Given the description of an element on the screen output the (x, y) to click on. 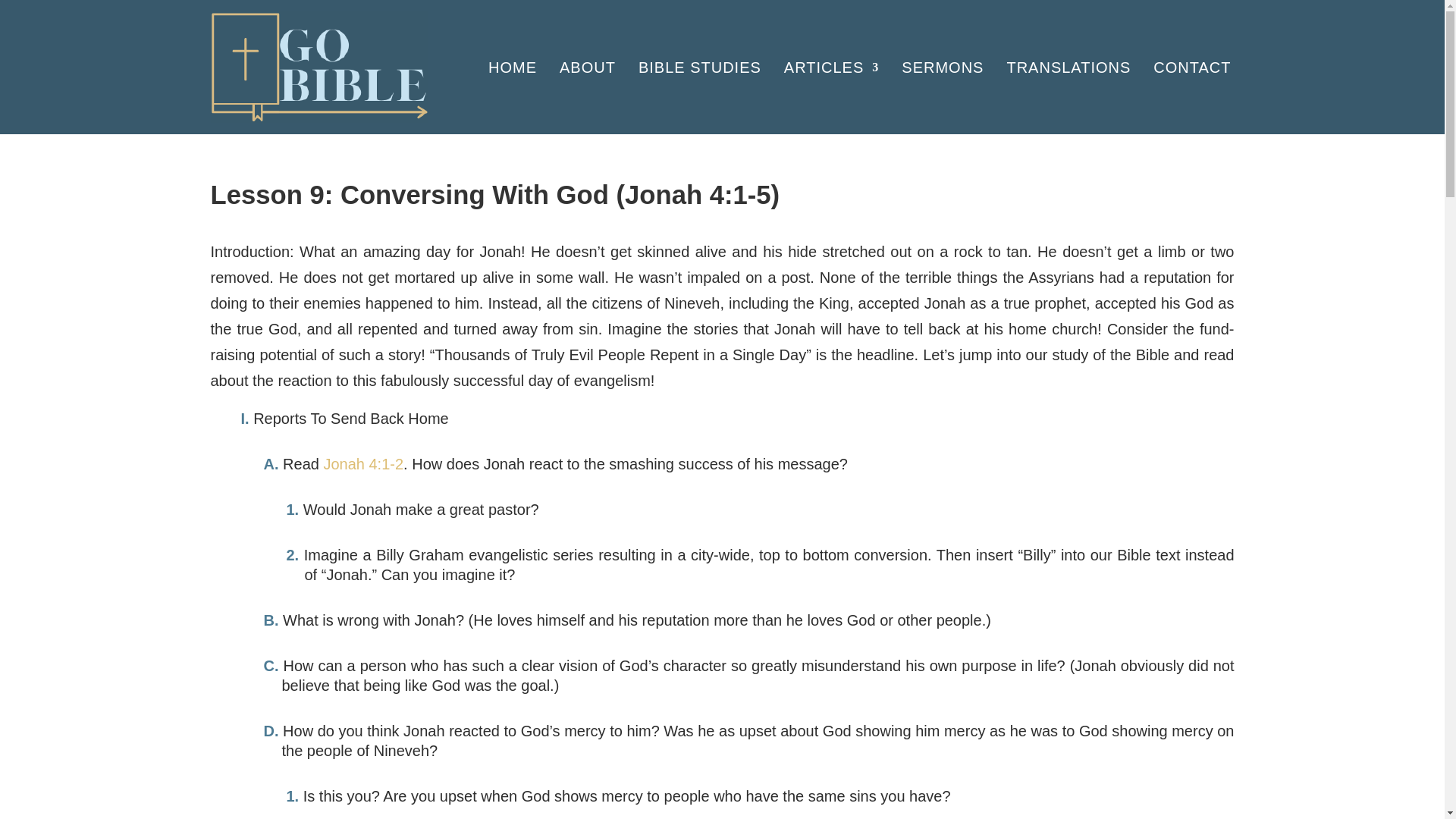
BIBLE STUDIES (700, 66)
TRANSLATIONS (1068, 66)
Jonah 4:1-2 (363, 463)
